Given the description of an element on the screen output the (x, y) to click on. 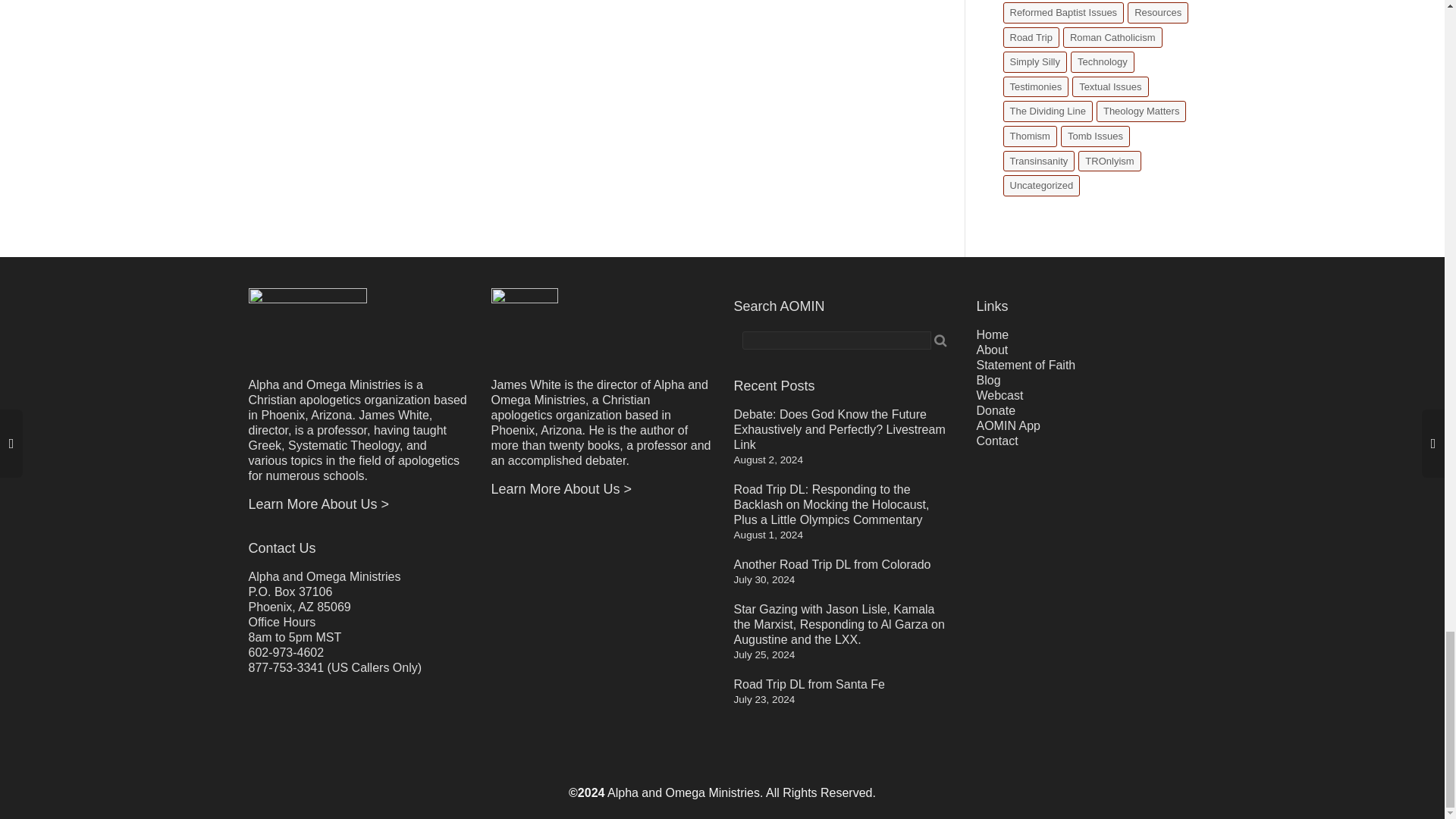
Search (940, 340)
Search (940, 340)
